Given the description of an element on the screen output the (x, y) to click on. 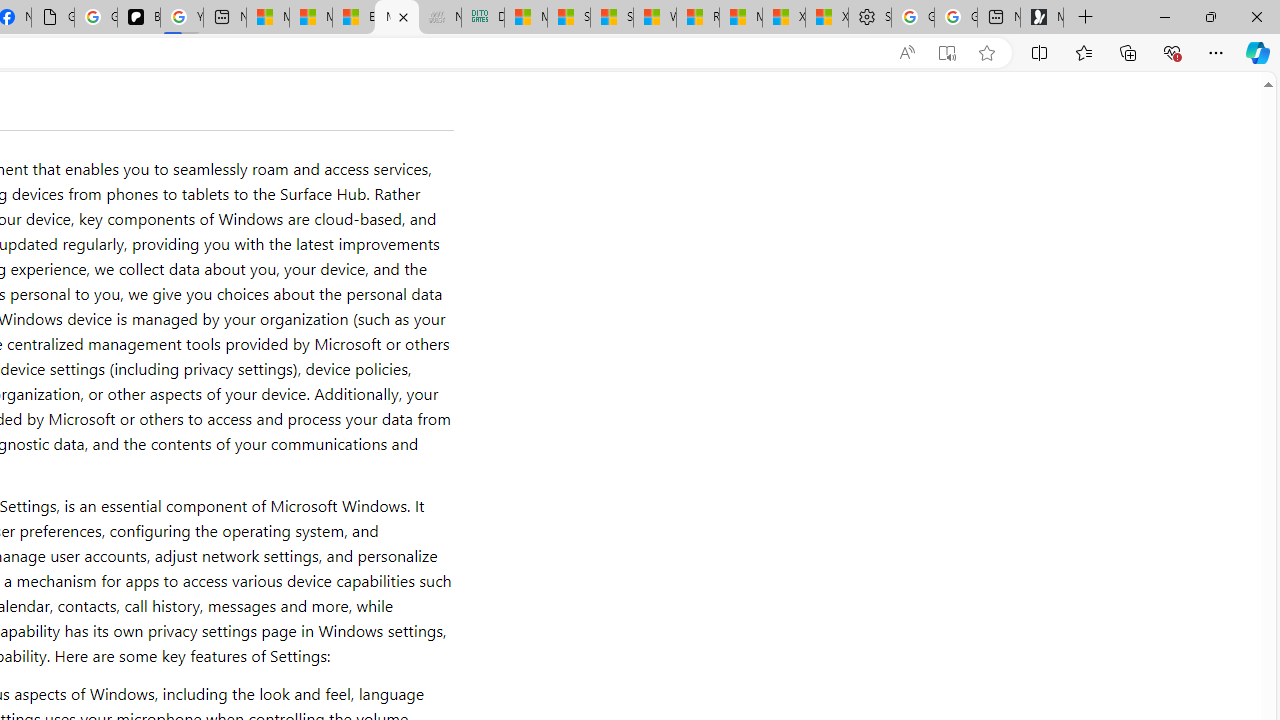
Be Smart | creating Science videos | Patreon (138, 17)
